Given the description of an element on the screen output the (x, y) to click on. 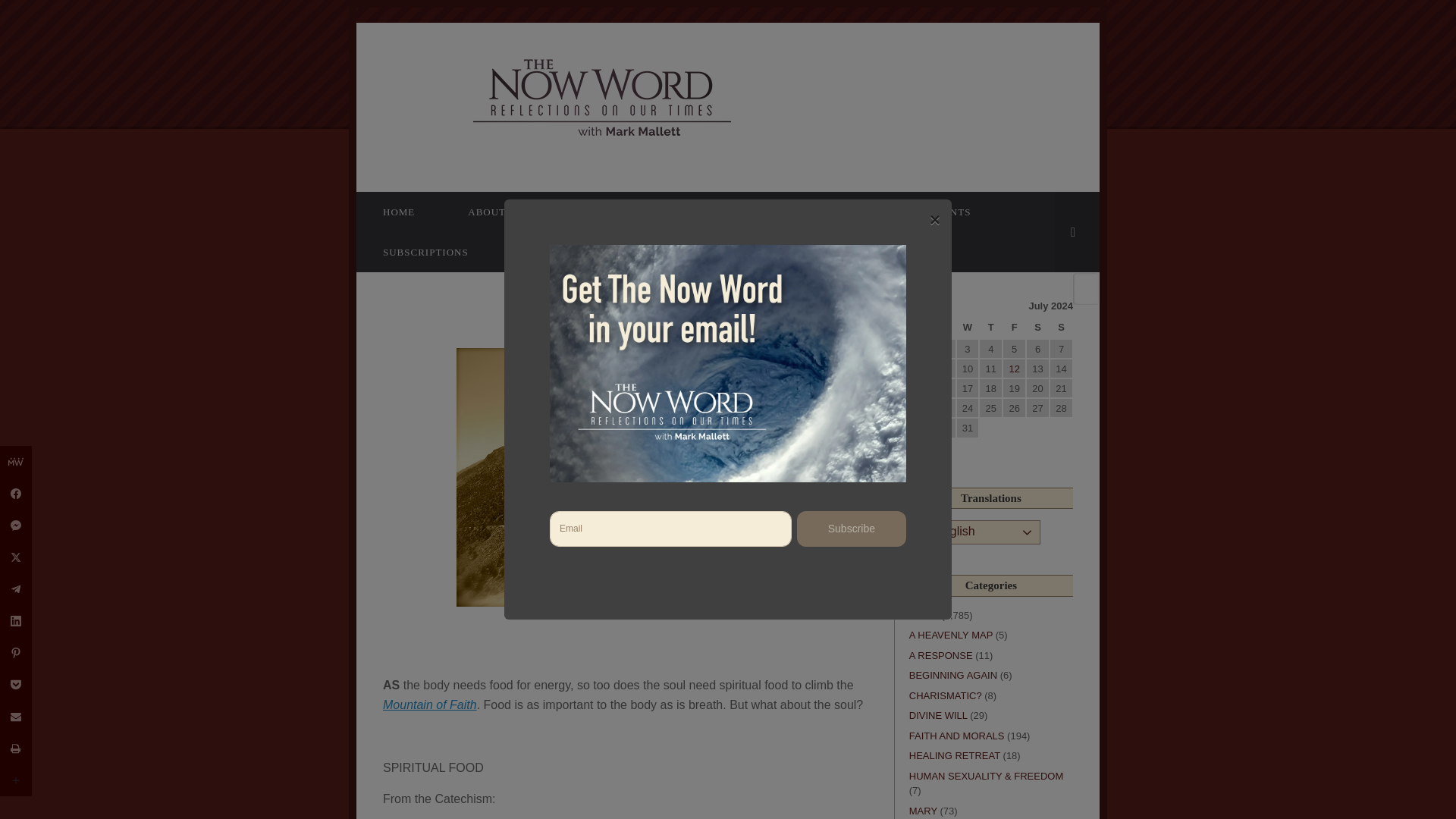
Tuesday (944, 328)
Wednesday (967, 328)
Friday (1014, 328)
DONATE (580, 211)
View all posts by Mark (694, 326)
SUBSCRIPTIONS (425, 251)
STORE (539, 251)
ABOUT (486, 211)
12:55 pm (632, 326)
COUNTDOWN TO THE KINGDOM (739, 211)
HOME (398, 211)
Monday (920, 328)
Sunday (1061, 328)
Thursday (990, 328)
